Given the description of an element on the screen output the (x, y) to click on. 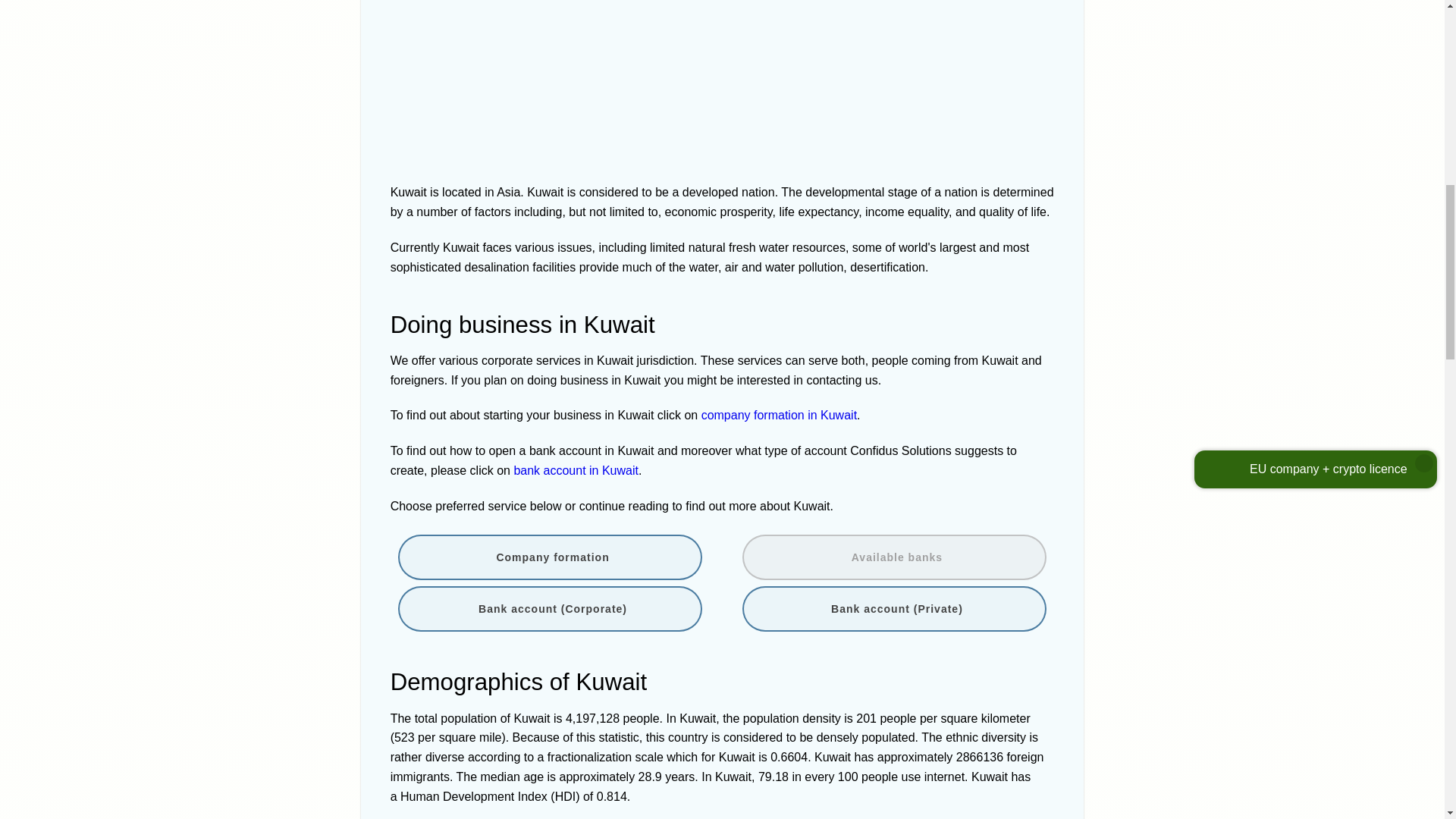
Available banks (894, 556)
company formation in Kuwait (779, 414)
Kuwait company formation (549, 556)
bank account in Kuwait (576, 470)
Company formation services in Kuwait (779, 414)
Bank account opening in Kuwait (576, 470)
Company formation (549, 556)
